Given the description of an element on the screen output the (x, y) to click on. 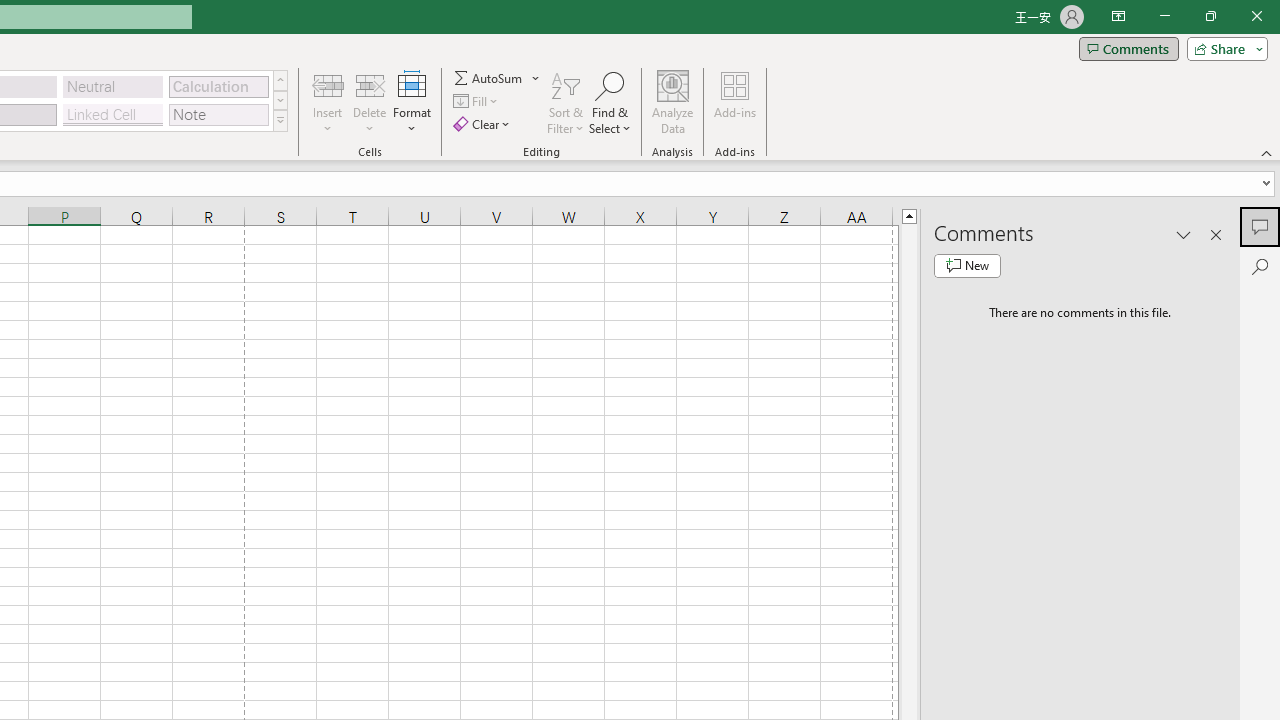
Find & Select (610, 102)
Sort & Filter (566, 102)
Insert Cells (328, 84)
New comment (967, 265)
Delete (369, 102)
AutoSum (497, 78)
